Given the description of an element on the screen output the (x, y) to click on. 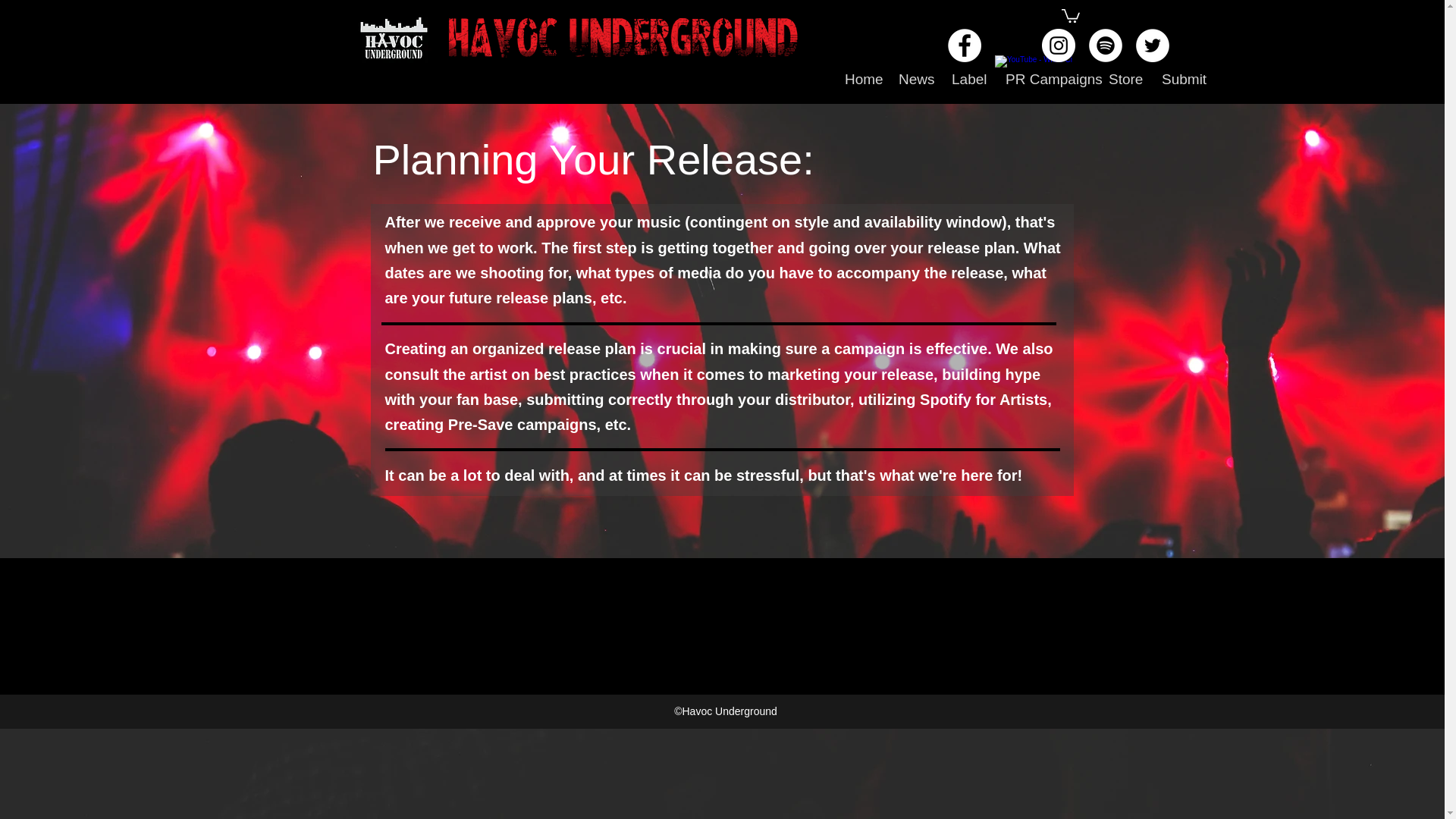
Store (1123, 79)
Submit (1181, 79)
PR Campaigns (1045, 79)
Label (967, 79)
Home (859, 79)
News (913, 79)
